Given the description of an element on the screen output the (x, y) to click on. 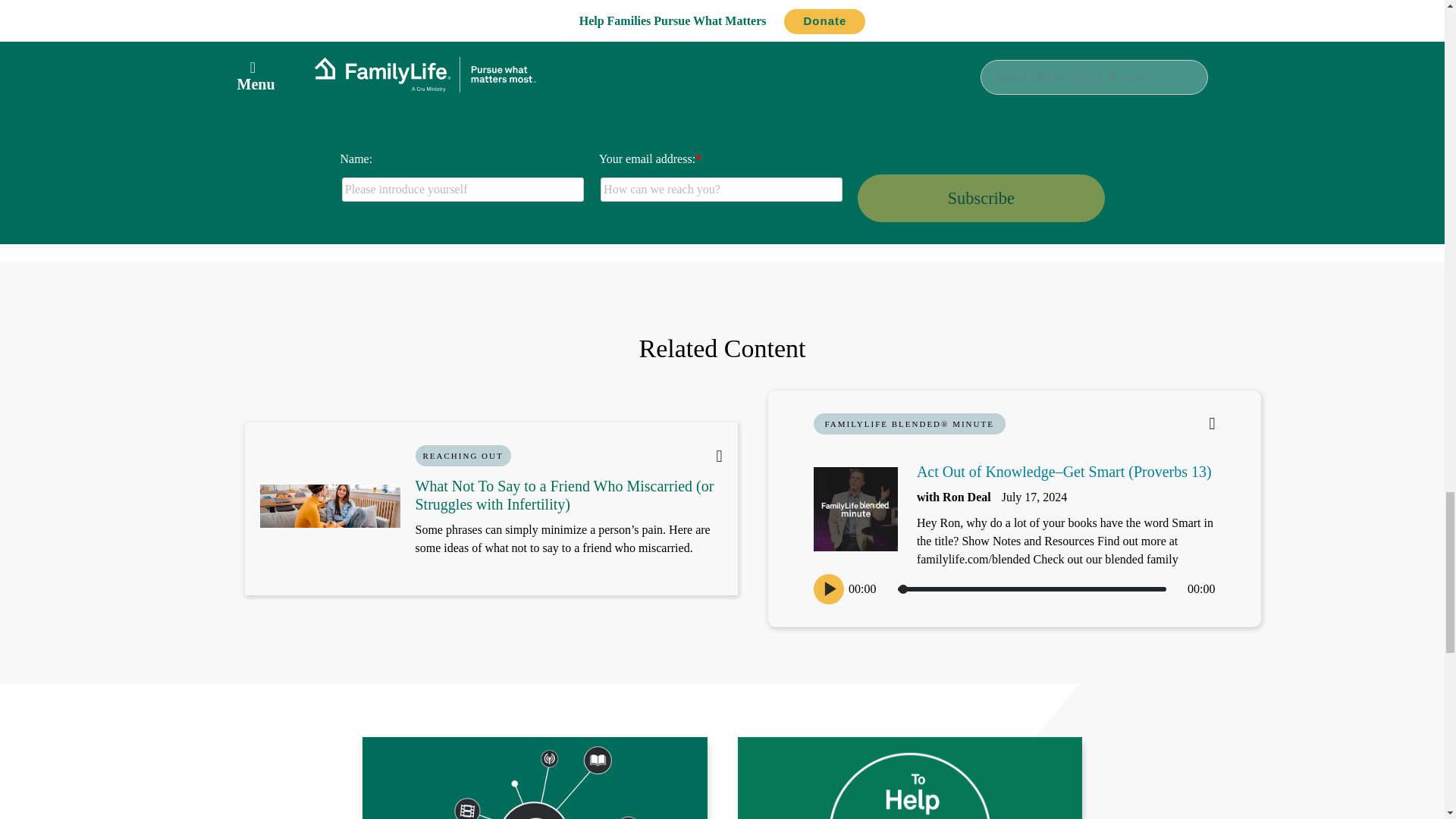
How can we reach you? (721, 189)
Subscribe (980, 197)
REACHING OUT (462, 455)
0 (1032, 589)
Please introduce yourself (462, 189)
click to join (980, 197)
